Given the description of an element on the screen output the (x, y) to click on. 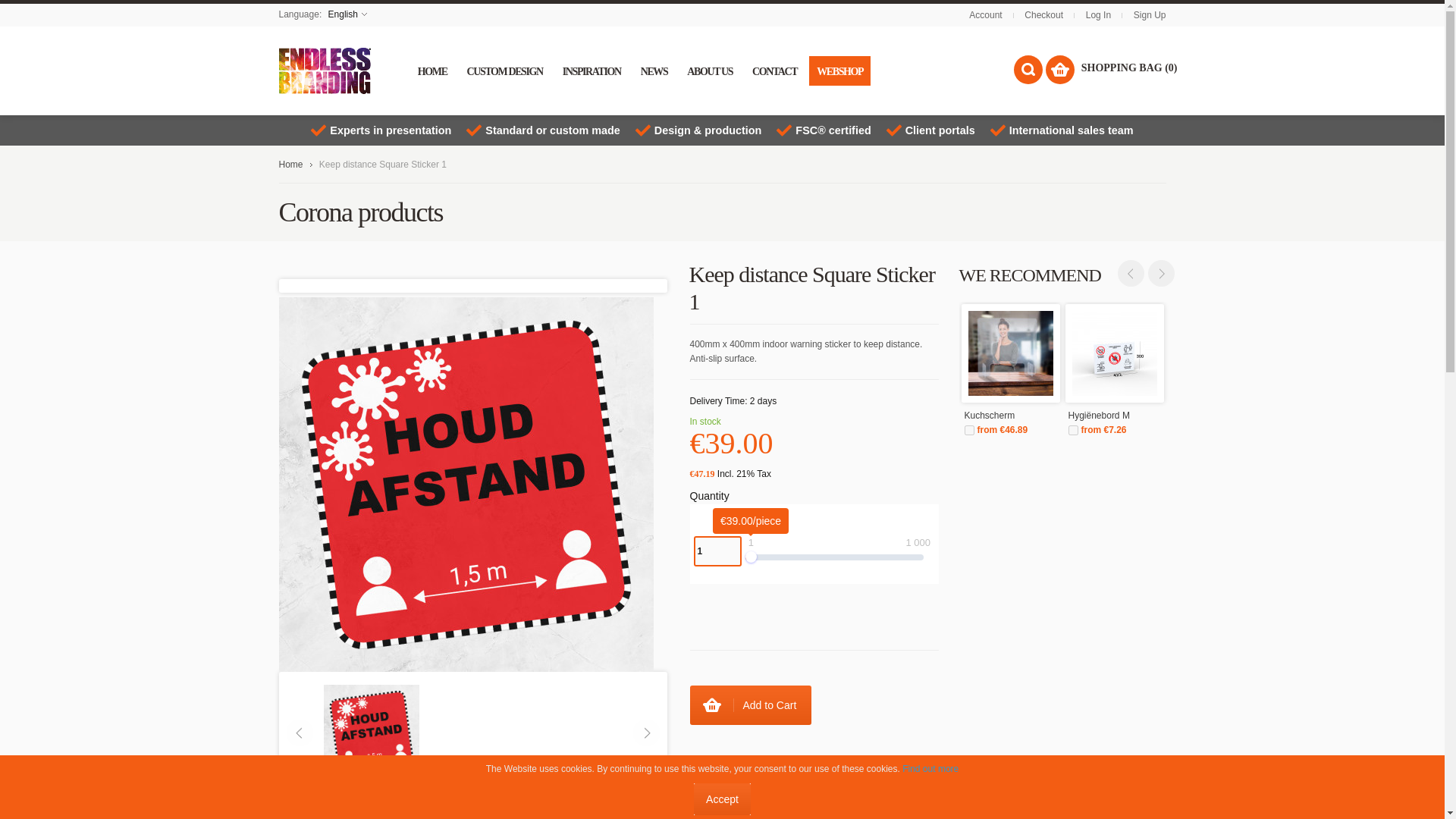
Add to Cart (751, 704)
137 (968, 429)
Endless Branding (325, 70)
ABOUT US (709, 70)
Log In (1098, 14)
135 (1072, 429)
Sign Up (1150, 14)
Kuchscherm (1010, 415)
Log In (1098, 14)
Account (985, 14)
Accept (722, 798)
INSPIRATION (591, 70)
Go to Home Page (290, 163)
